Given the description of an element on the screen output the (x, y) to click on. 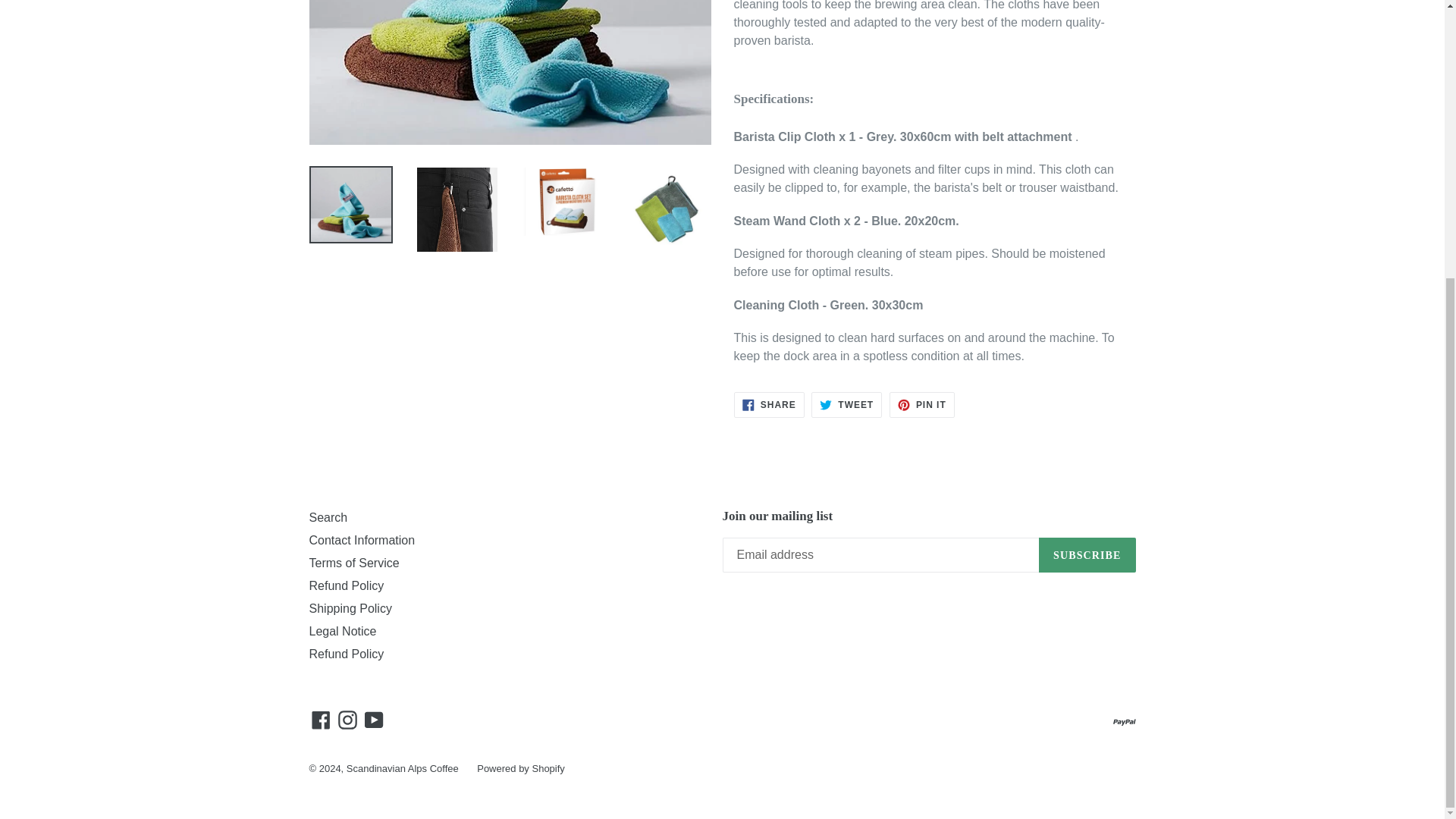
Scandinavian Alps Coffee on Instagram (347, 719)
Scandinavian Alps Coffee on YouTube (373, 719)
Terms of Service (353, 562)
Refund Policy (922, 404)
Tweet on Twitter (346, 585)
Contact Information (846, 404)
Search (846, 404)
Pin on Pinterest (361, 540)
